Given the description of an element on the screen output the (x, y) to click on. 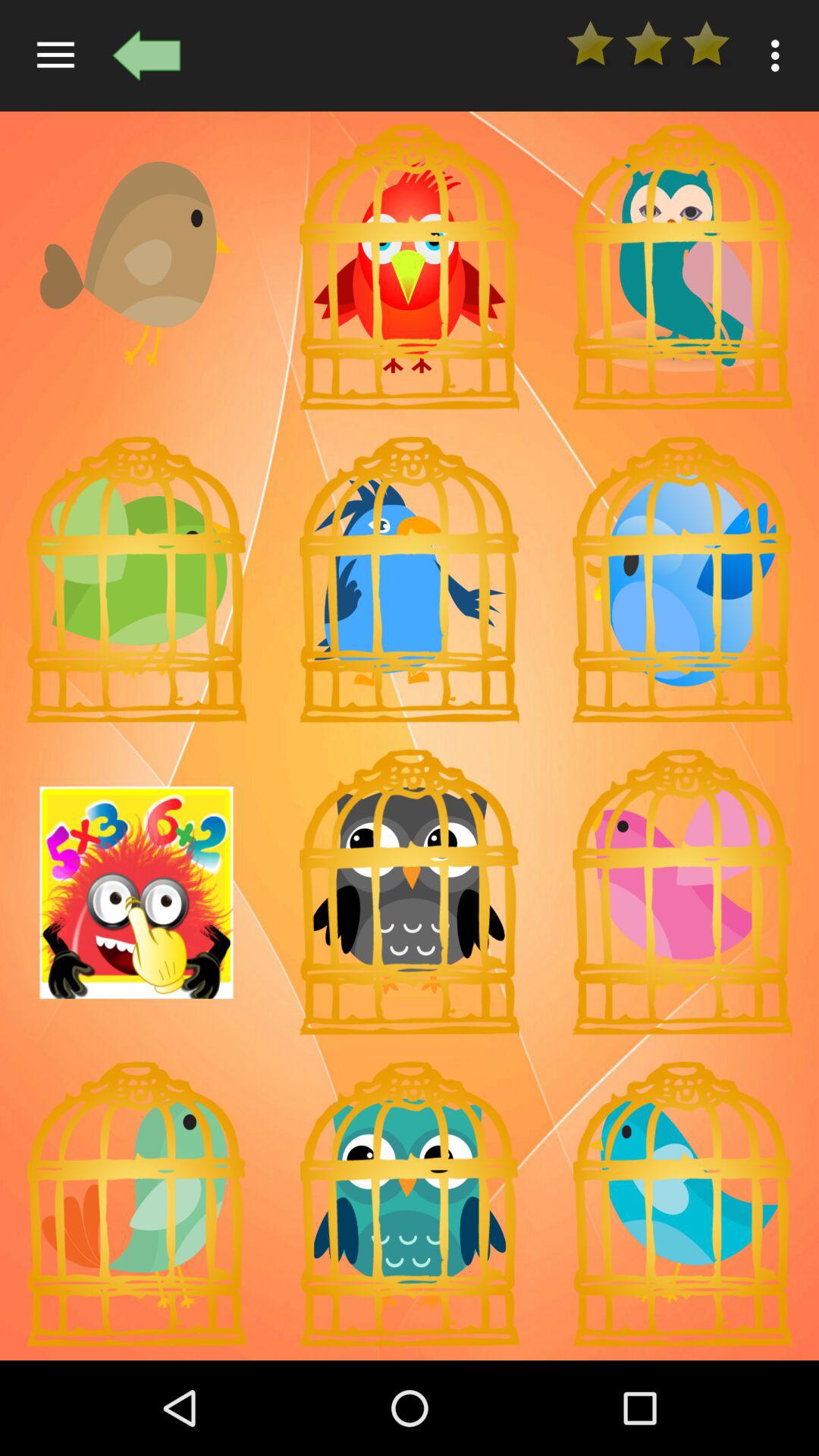
select bird (682, 892)
